Given the description of an element on the screen output the (x, y) to click on. 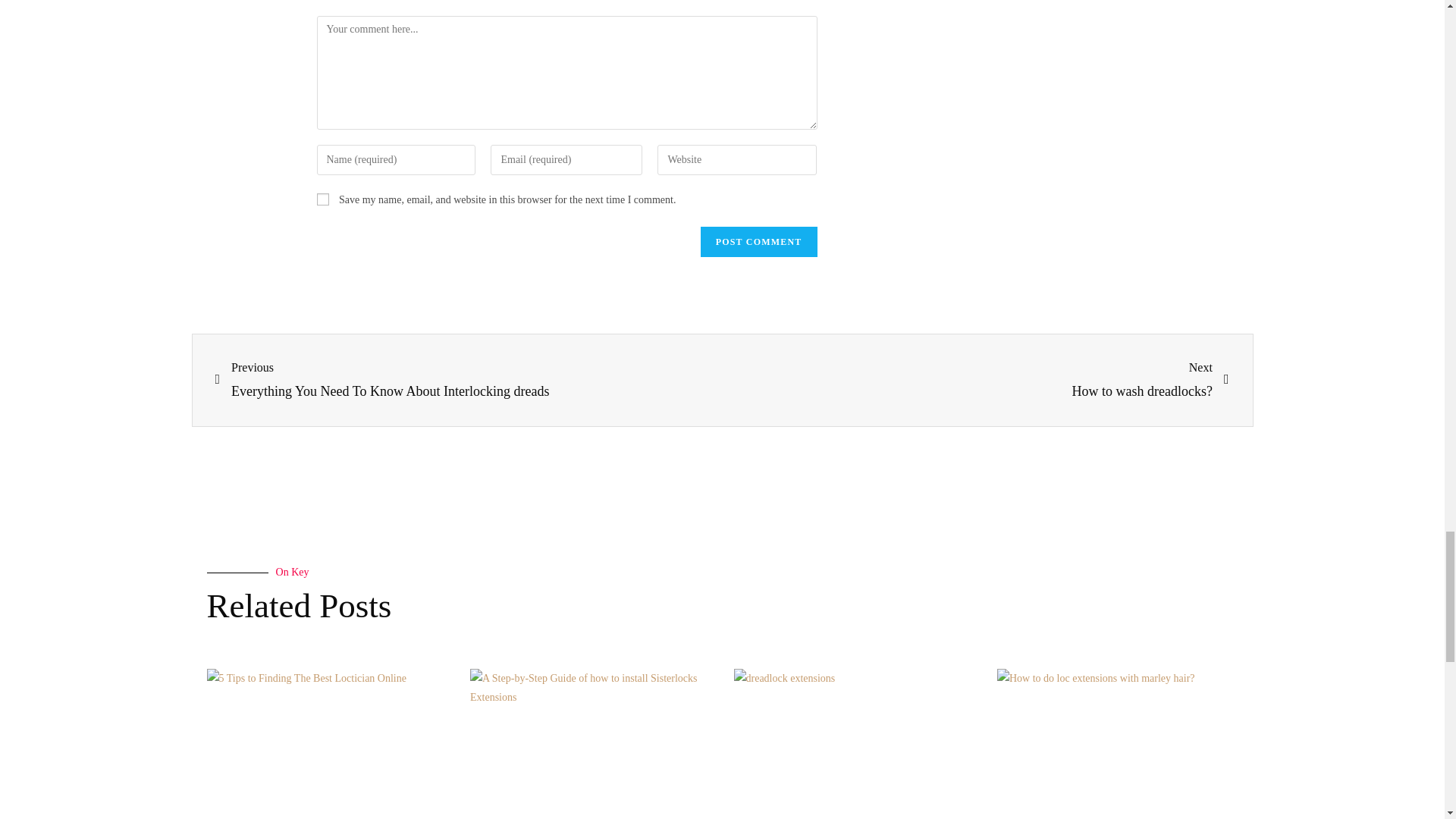
Post Comment (758, 241)
yes (323, 199)
Post Comment (758, 241)
